Given the description of an element on the screen output the (x, y) to click on. 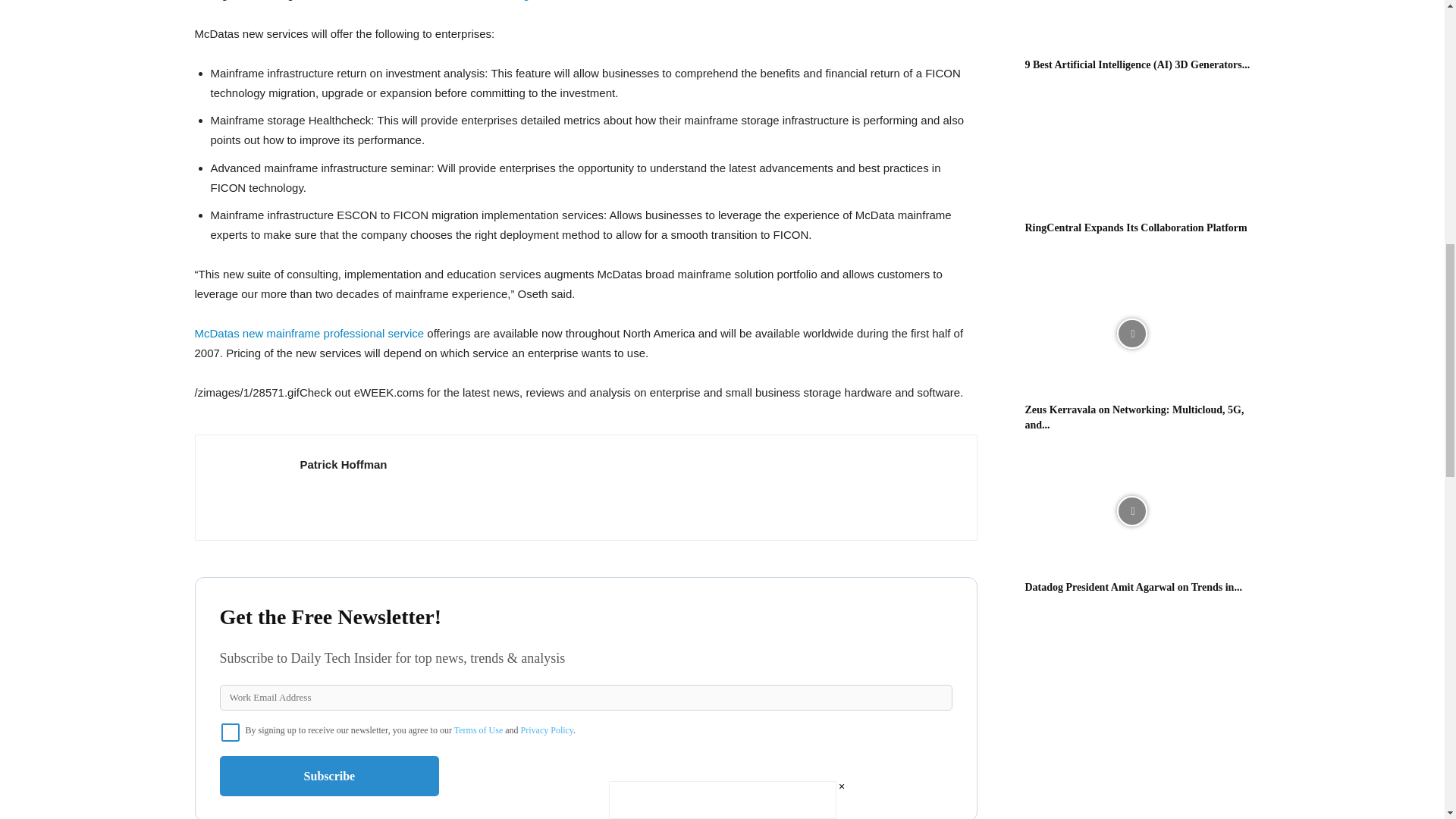
Zeus Kerravala on Networking: Multicloud, 5G, and Automation (1134, 417)
Zeus Kerravala on Networking: Multicloud, 5G, and Automation (1131, 333)
on (230, 732)
RingCentral Expands Its Collaboration Platform (1136, 227)
RingCentral Expands Its Collaboration Platform (1131, 151)
